Given the description of an element on the screen output the (x, y) to click on. 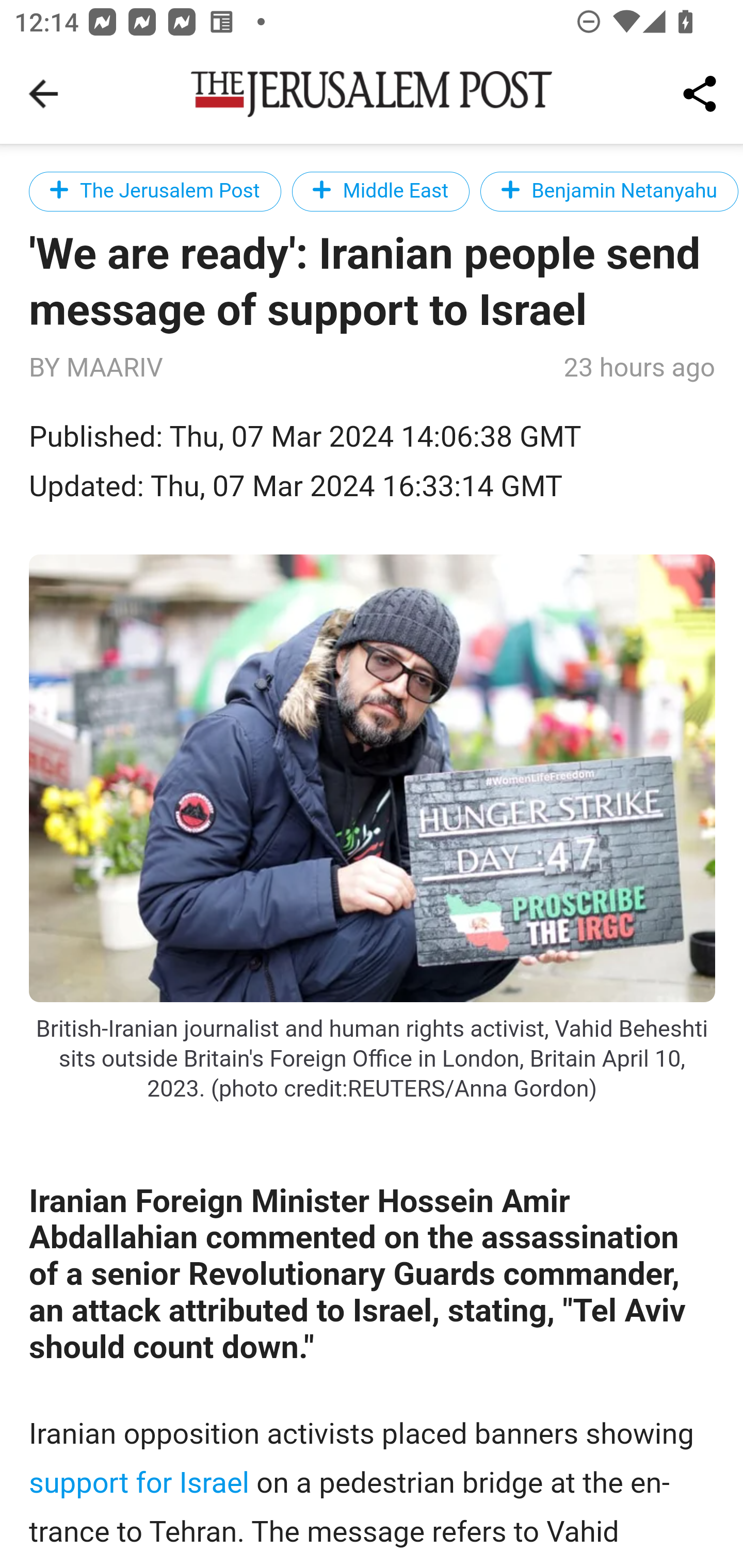
The Jerusalem Post (154, 191)
Middle East (380, 191)
Benjamin Netanyahu (610, 191)
support for Israel (139, 1482)
